Given the description of an element on the screen output the (x, y) to click on. 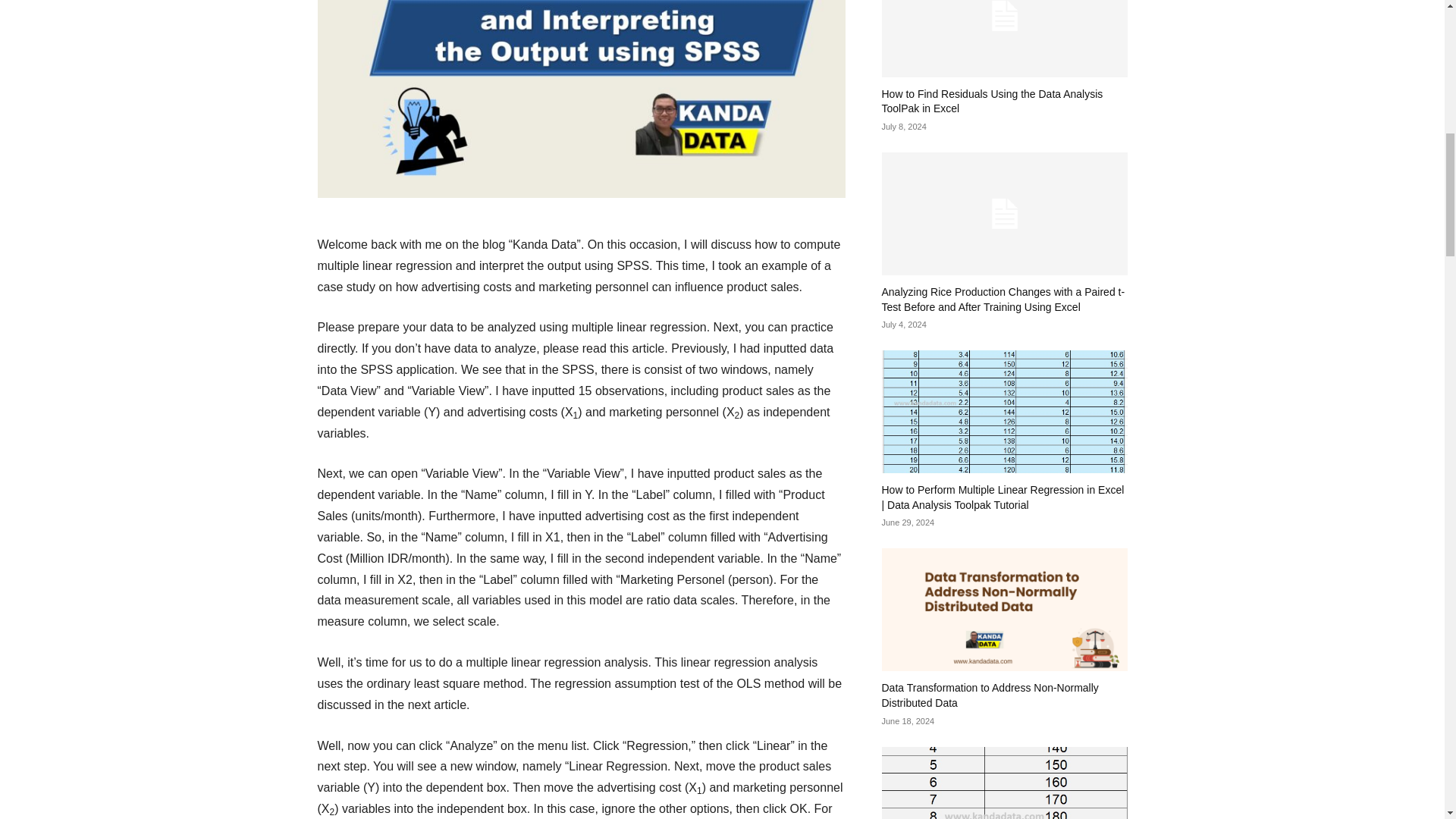
PIC 18 (580, 99)
